Given the description of an element on the screen output the (x, y) to click on. 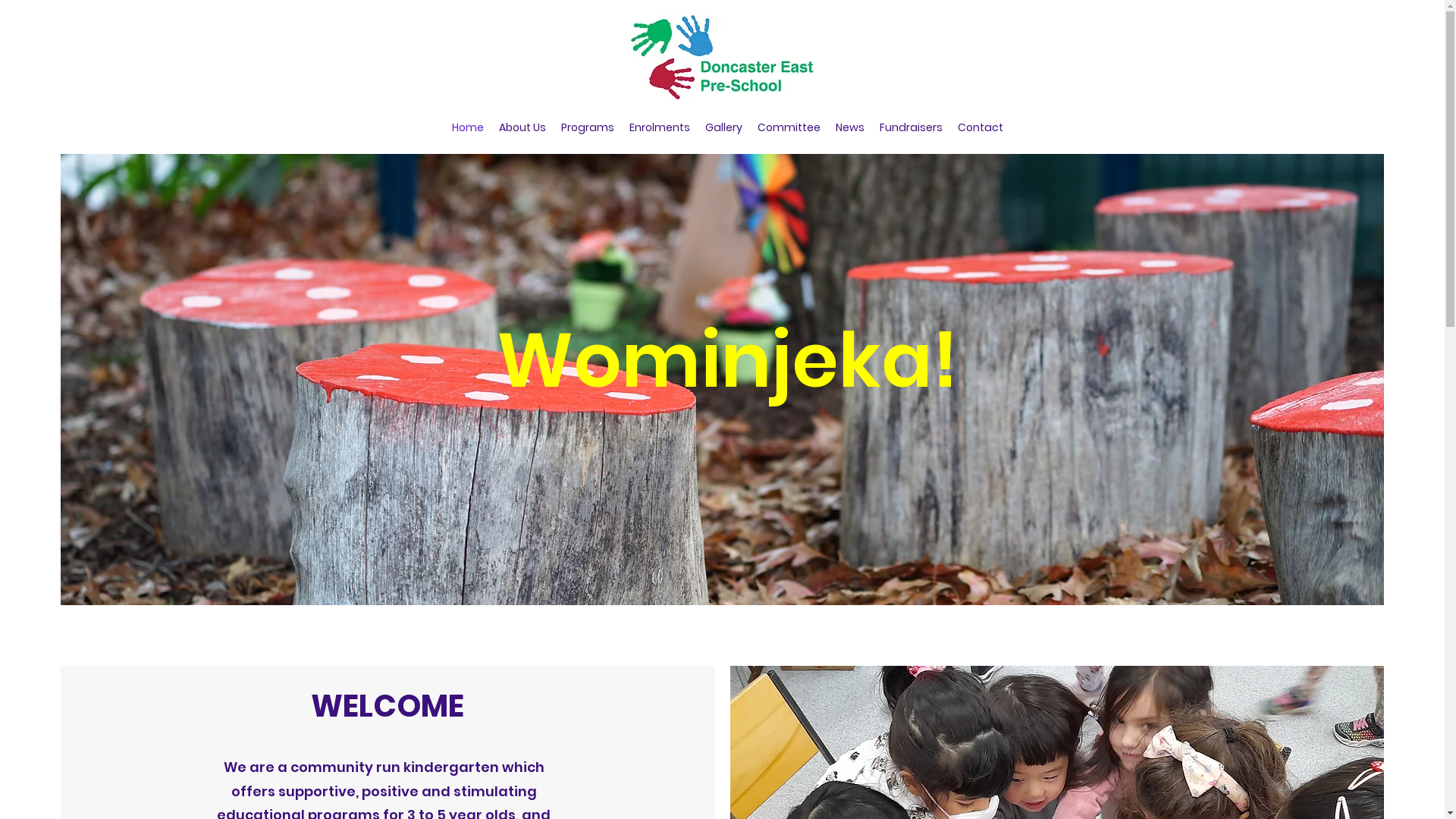
Committee Element type: text (788, 127)
Contact Element type: text (979, 127)
Home Element type: text (467, 127)
News Element type: text (850, 127)
Fundraisers Element type: text (911, 127)
About Us Element type: text (522, 127)
Gallery Element type: text (723, 127)
Programs Element type: text (587, 127)
Enrolments Element type: text (659, 127)
